Given the description of an element on the screen output the (x, y) to click on. 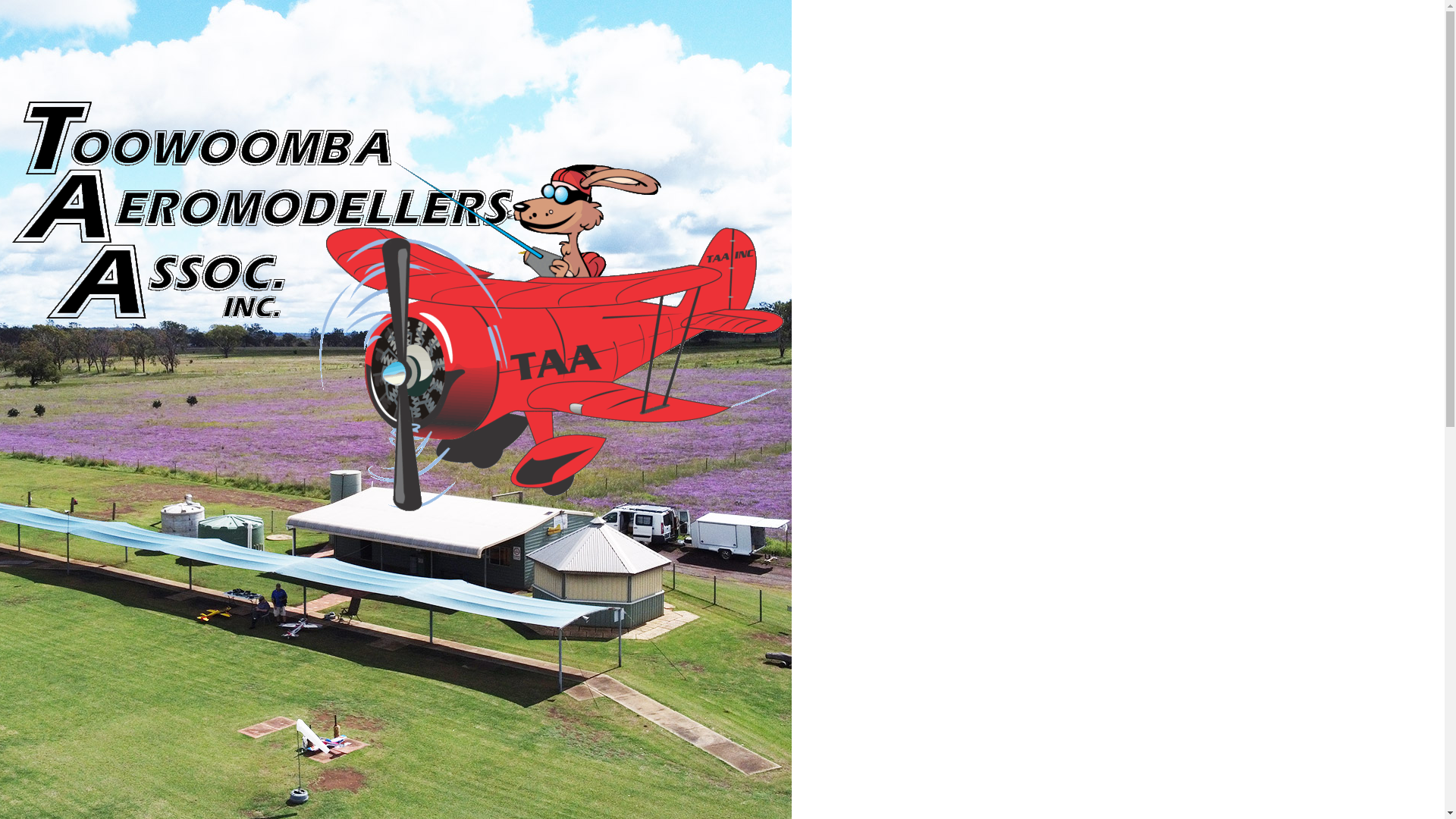
DOWNLOADS Element type: text (156, 274)
LOCATION Element type: text (133, 335)
FLYING Element type: text (133, 396)
JOIN Element type: text (133, 456)
HOME Element type: text (133, 55)
EVENTS Element type: text (133, 517)
Menu Toggle Element type: text (133, 165)
ABOUT Element type: text (133, 116)
CONTACT Element type: text (156, 214)
